Given the description of an element on the screen output the (x, y) to click on. 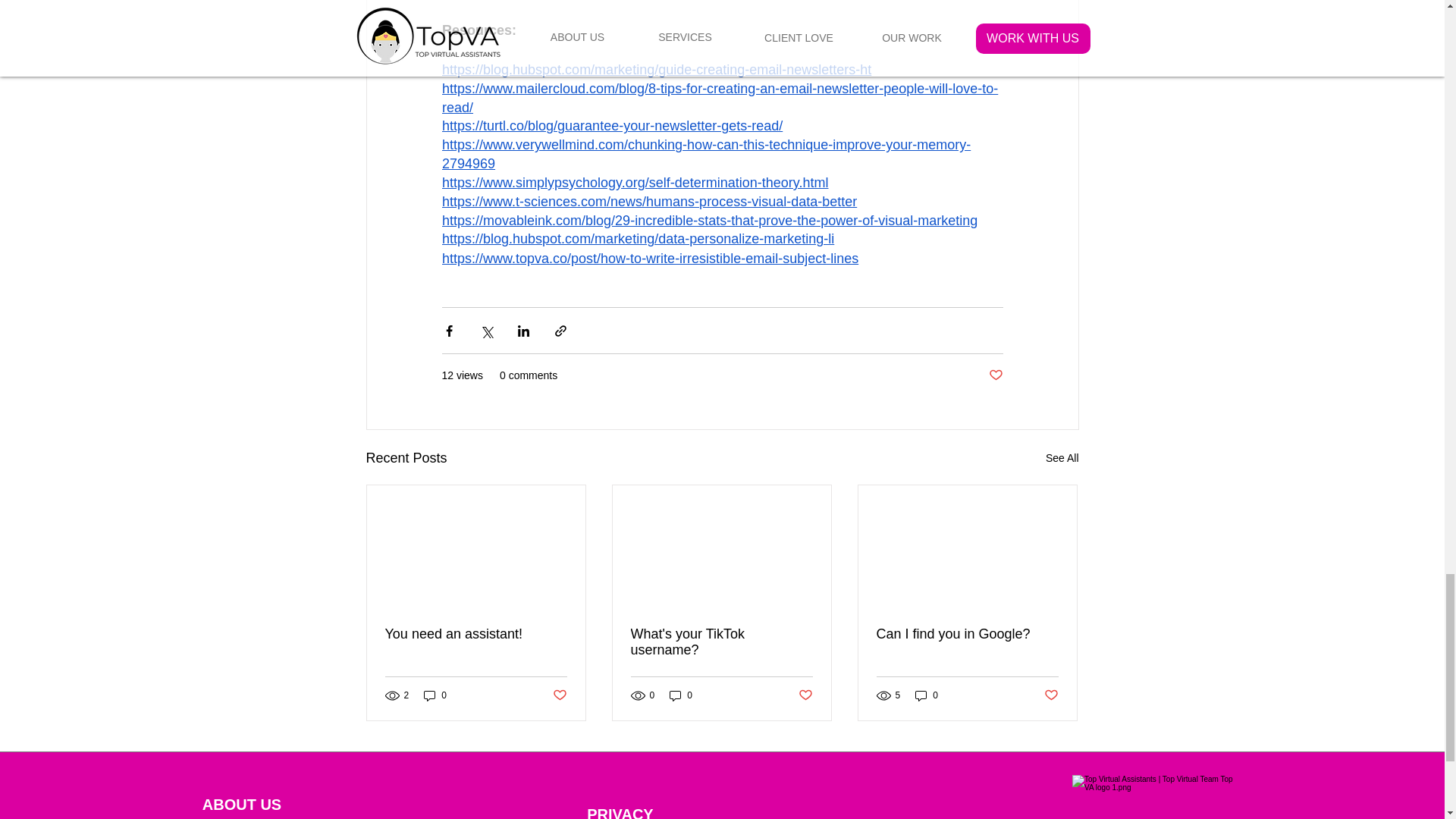
See All (1061, 458)
Post not marked as liked (804, 695)
What's your TikTok username? (721, 642)
0 (681, 695)
Post not marked as liked (995, 375)
You need an assistant! (476, 634)
Post not marked as liked (558, 695)
0 (435, 695)
